Given the description of an element on the screen output the (x, y) to click on. 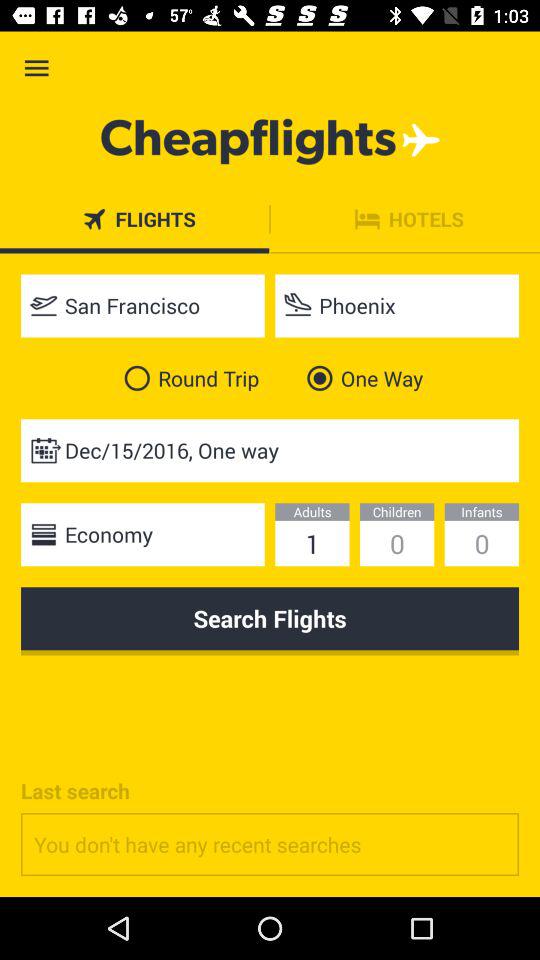
launch the san francisco (142, 305)
